Given the description of an element on the screen output the (x, y) to click on. 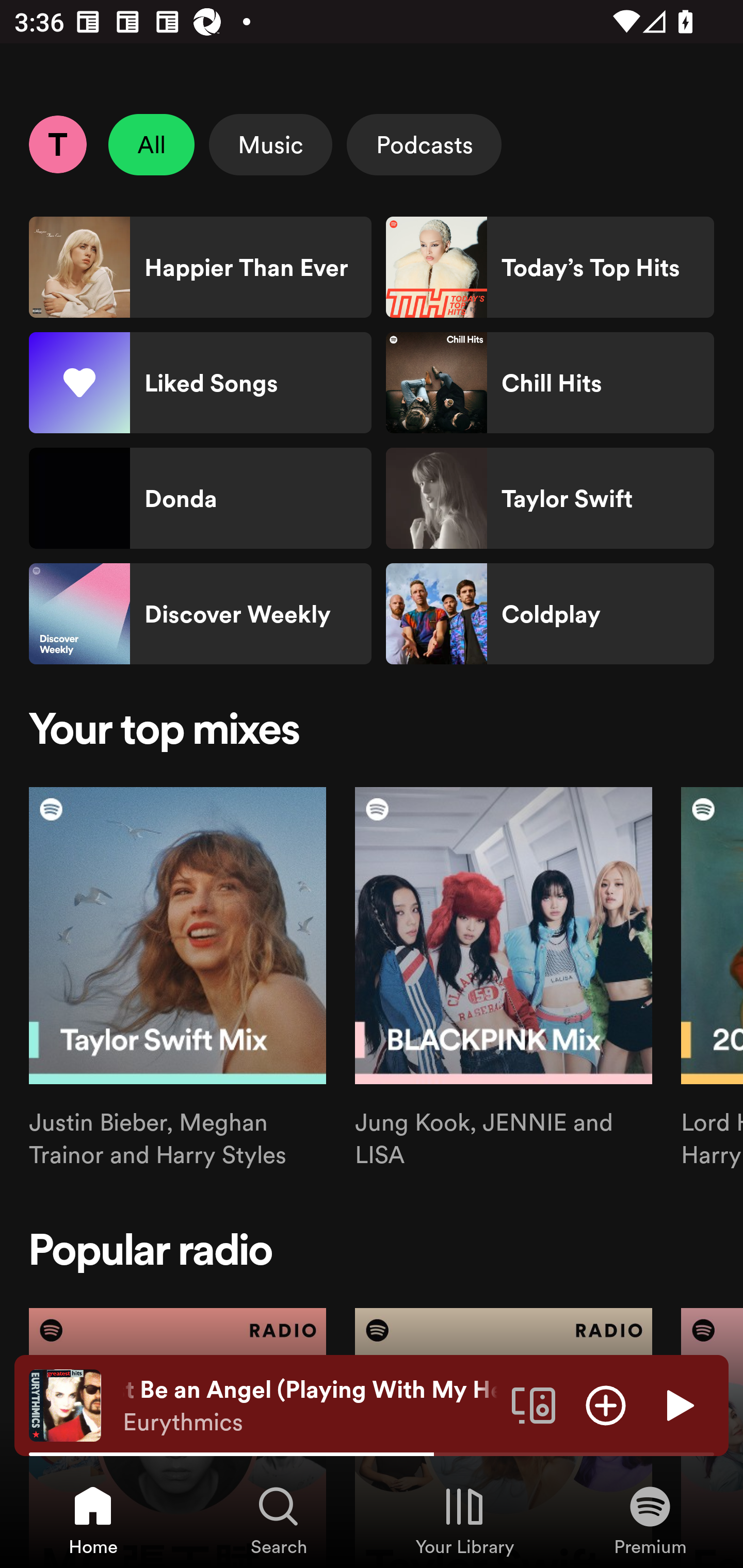
Profile (57, 144)
All Unselect All (151, 144)
Music Select Music (270, 144)
Podcasts Select Podcasts (423, 144)
Happier Than Ever Shortcut Happier Than Ever (199, 267)
Today’s Top Hits Shortcut Today’s Top Hits (549, 267)
Liked Songs Shortcut Liked Songs (199, 382)
Chill Hits Shortcut Chill Hits (549, 382)
Donda Shortcut Donda (199, 498)
Taylor Swift Shortcut Taylor Swift (549, 498)
Discover Weekly Shortcut Discover Weekly (199, 613)
Coldplay Shortcut Coldplay (549, 613)
The cover art of the currently playing track (64, 1404)
Connect to a device. Opens the devices menu (533, 1404)
Add item (605, 1404)
Play (677, 1404)
Home, Tab 1 of 4 Home Home (92, 1519)
Search, Tab 2 of 4 Search Search (278, 1519)
Your Library, Tab 3 of 4 Your Library Your Library (464, 1519)
Premium, Tab 4 of 4 Premium Premium (650, 1519)
